Given the description of an element on the screen output the (x, y) to click on. 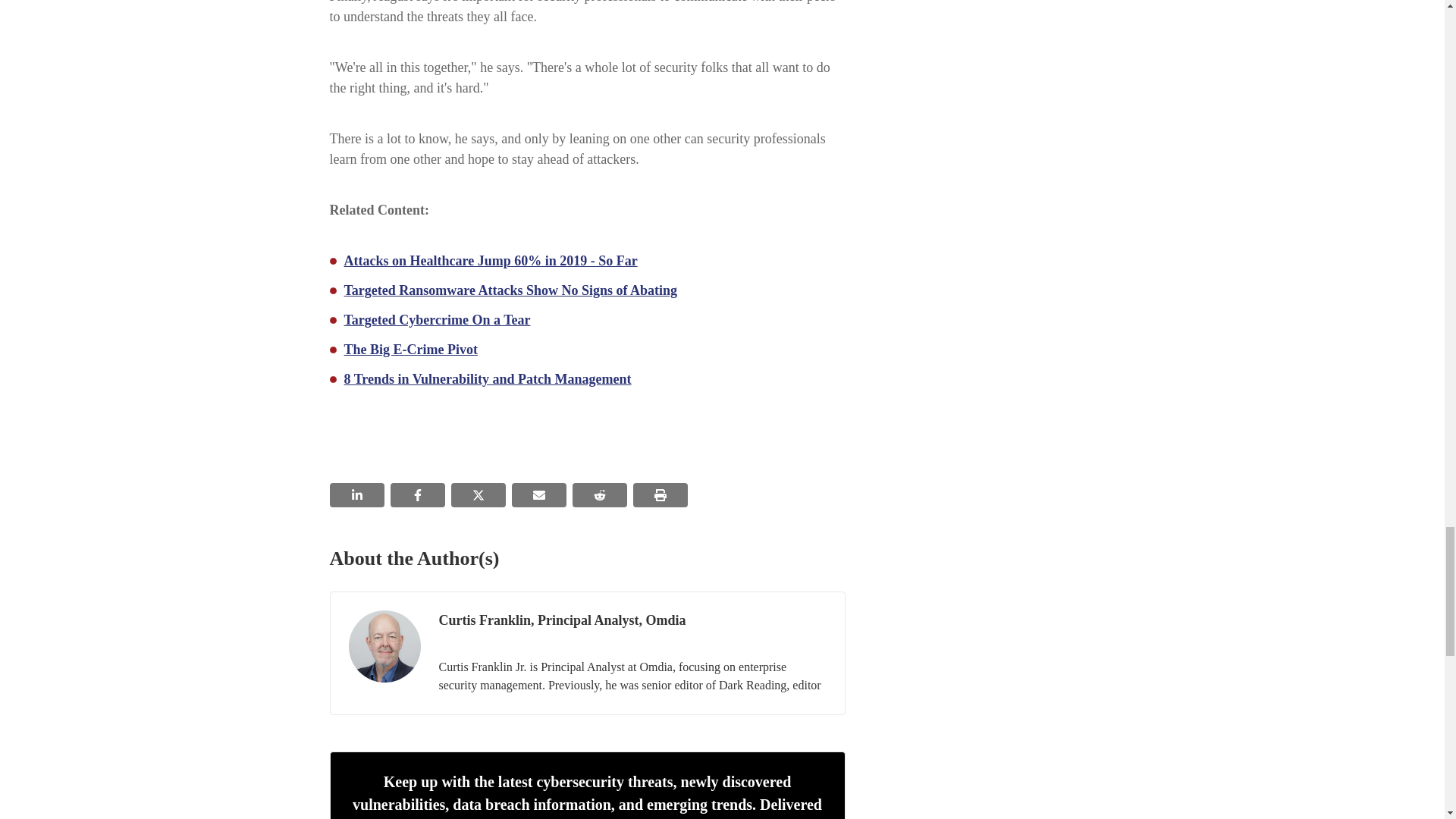
Curtis Franklin, Principal Analyst, Omdia (384, 646)
